Given the description of an element on the screen output the (x, y) to click on. 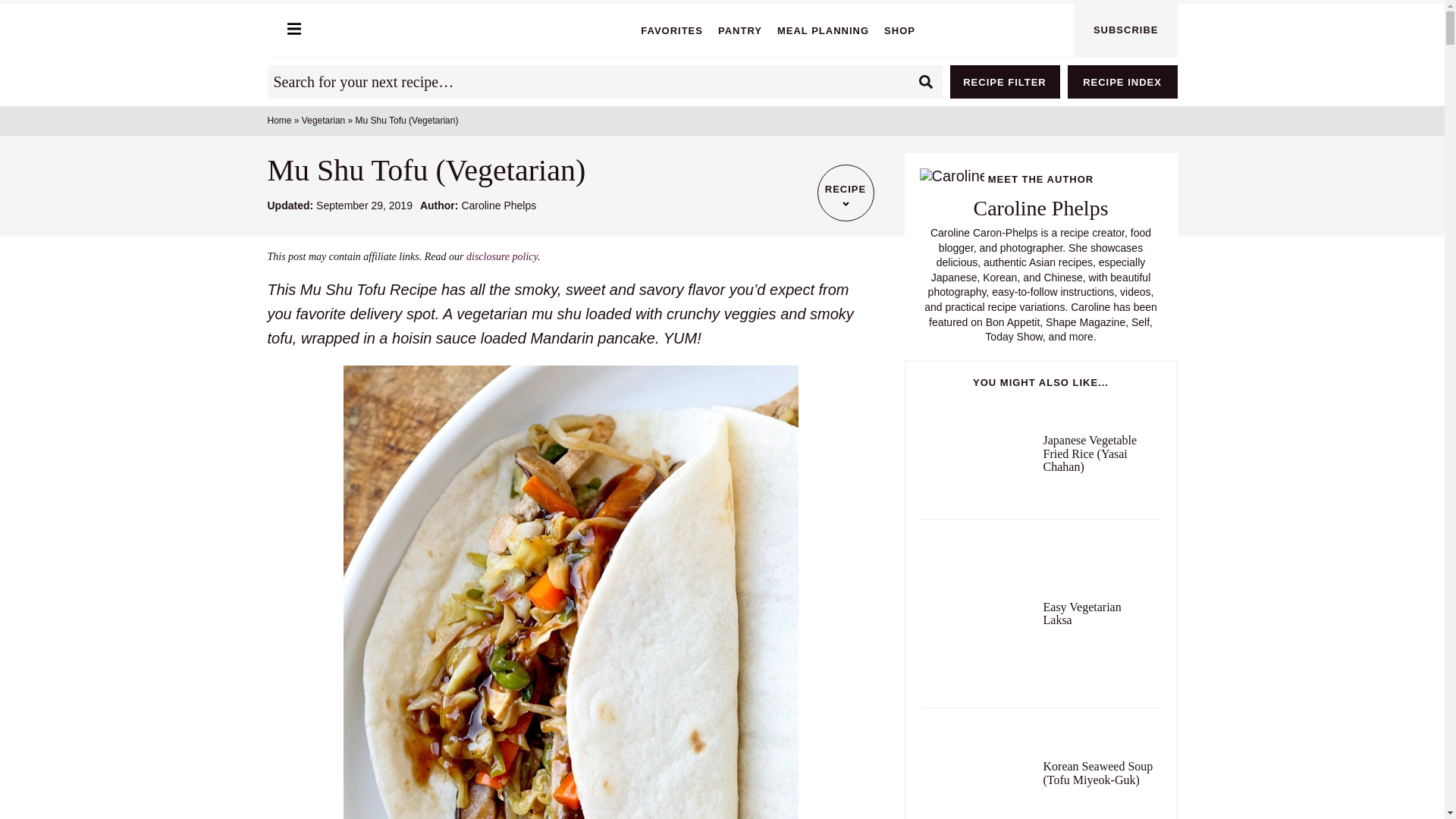
RECIPE FILTER (1004, 81)
MEAL PLANNING (823, 30)
RECIPE INDEX (1122, 81)
Search Submit (925, 81)
FAVORITES (671, 30)
Search for (604, 81)
SHOP (899, 30)
PANTRY (739, 30)
SUBSCRIBE (1125, 30)
